Given the description of an element on the screen output the (x, y) to click on. 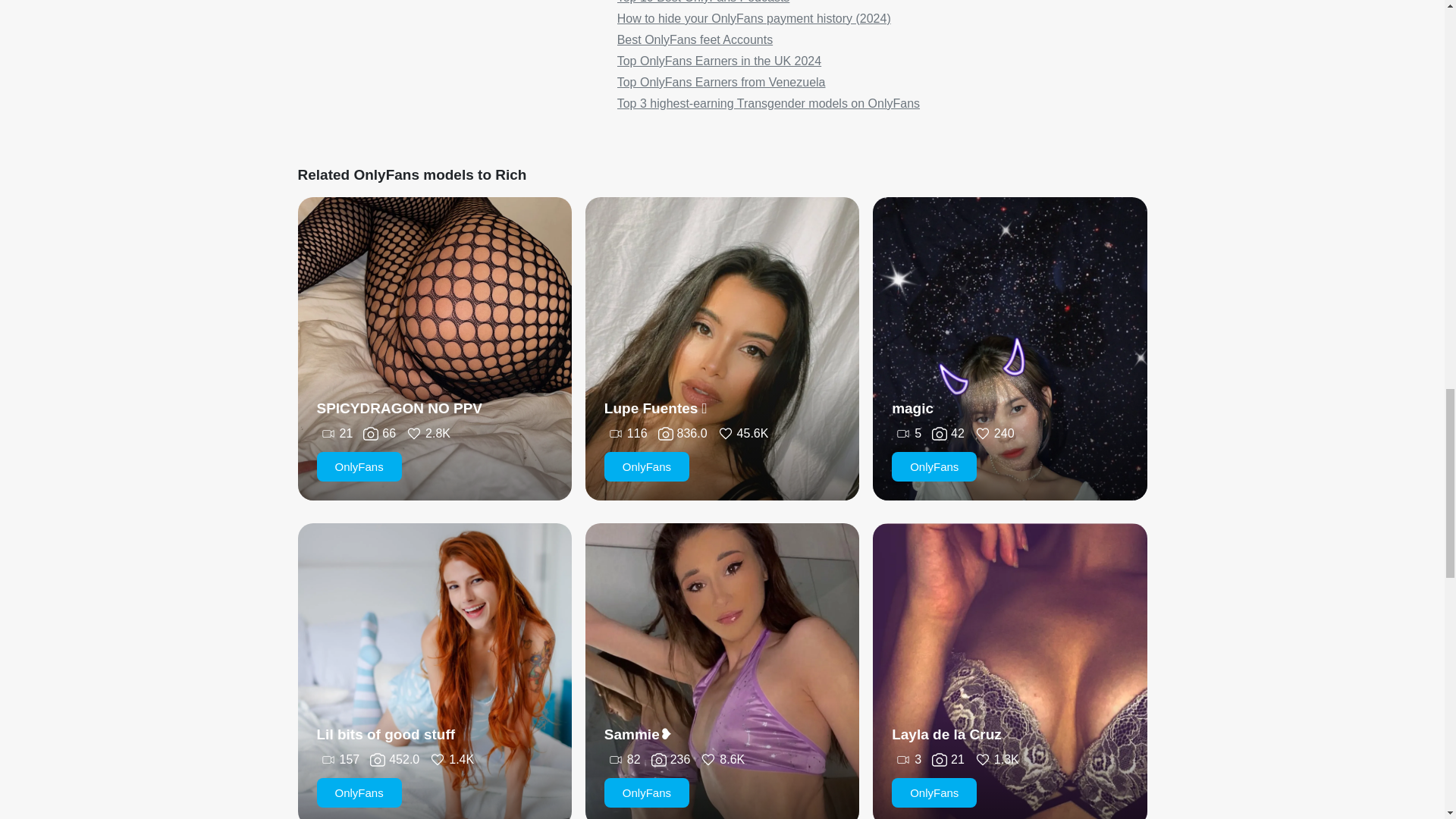
magic (912, 408)
Top OnlyFans Earners from Venezuela (721, 82)
OnlyFans (359, 466)
Top OnlyFans Earners in the UK 2024 (719, 60)
Layla de la Cruz (946, 734)
OnlyFans (933, 792)
Best OnlyFans feet Accounts (695, 39)
OnlyFans (646, 792)
Lil bits of good stuff (386, 734)
Top 10 Best OnlyFans Podcasts (703, 2)
OnlyFans (646, 466)
Top 3 highest-earning Transgender models on OnlyFans (768, 103)
SPICYDRAGON NO PPV (400, 408)
OnlyFans (359, 792)
OnlyFans (933, 466)
